Given the description of an element on the screen output the (x, y) to click on. 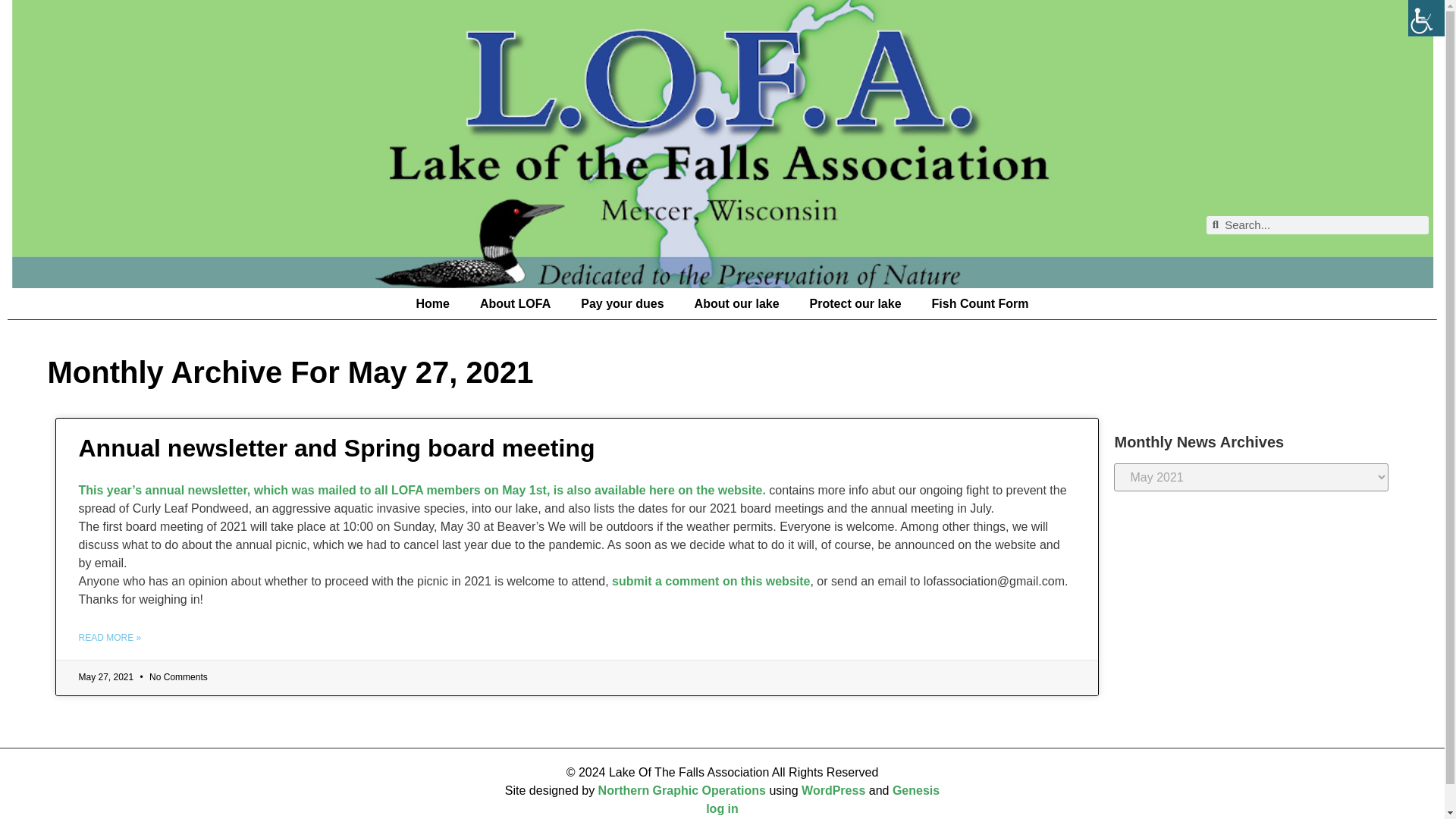
Home (432, 304)
Fish Count Form (980, 304)
WordPress (833, 789)
log in (722, 808)
submit a comment on this website (709, 581)
Genesis (915, 789)
Annual newsletter and Spring board meeting (336, 447)
Northern Graphic Operations (681, 789)
Genesis (915, 789)
About our lake (736, 304)
